Given the description of an element on the screen output the (x, y) to click on. 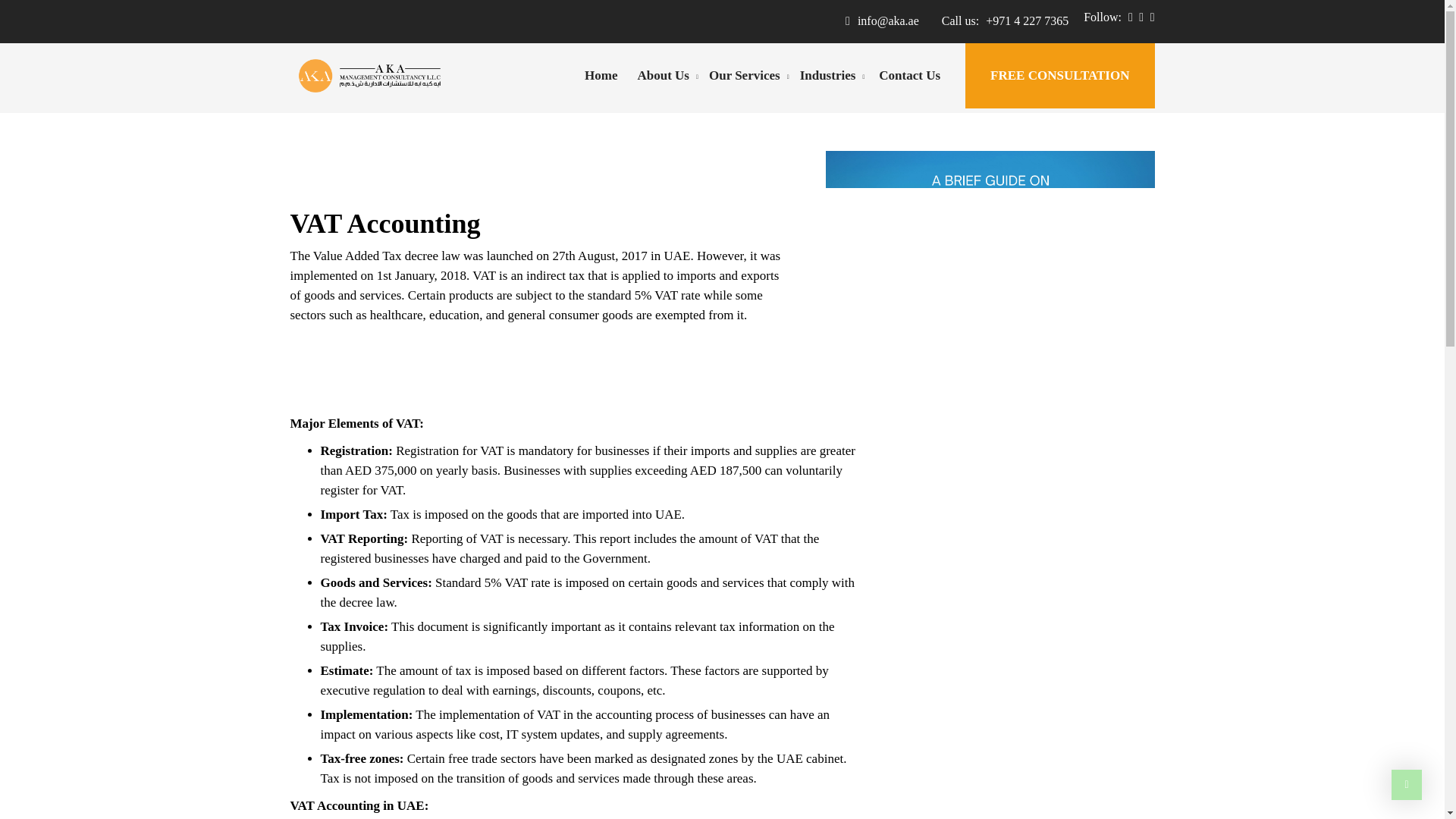
Industries (828, 75)
Our Services (744, 75)
About Us (662, 75)
